Given the description of an element on the screen output the (x, y) to click on. 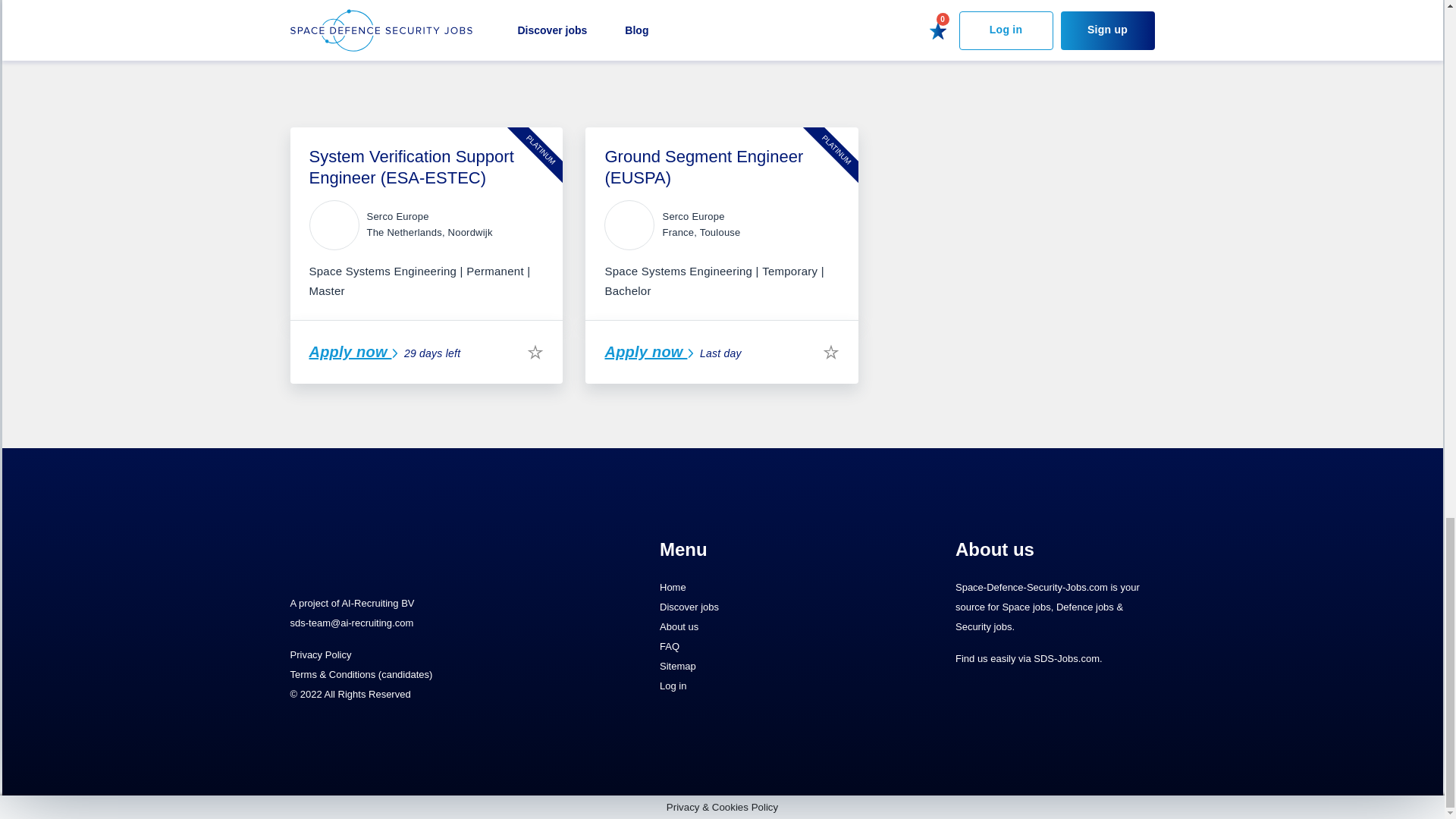
FAQ (759, 646)
Log in (759, 686)
About us (759, 627)
Space jobs (1025, 605)
Home (759, 587)
Privacy Policy (319, 654)
Sapienza Consulting Privacy Policy (384, 42)
Space Defence Security Jobs Footer Logo (380, 552)
SDS-Jobs.com (1066, 657)
Defence jobs (1085, 605)
